Given the description of an element on the screen output the (x, y) to click on. 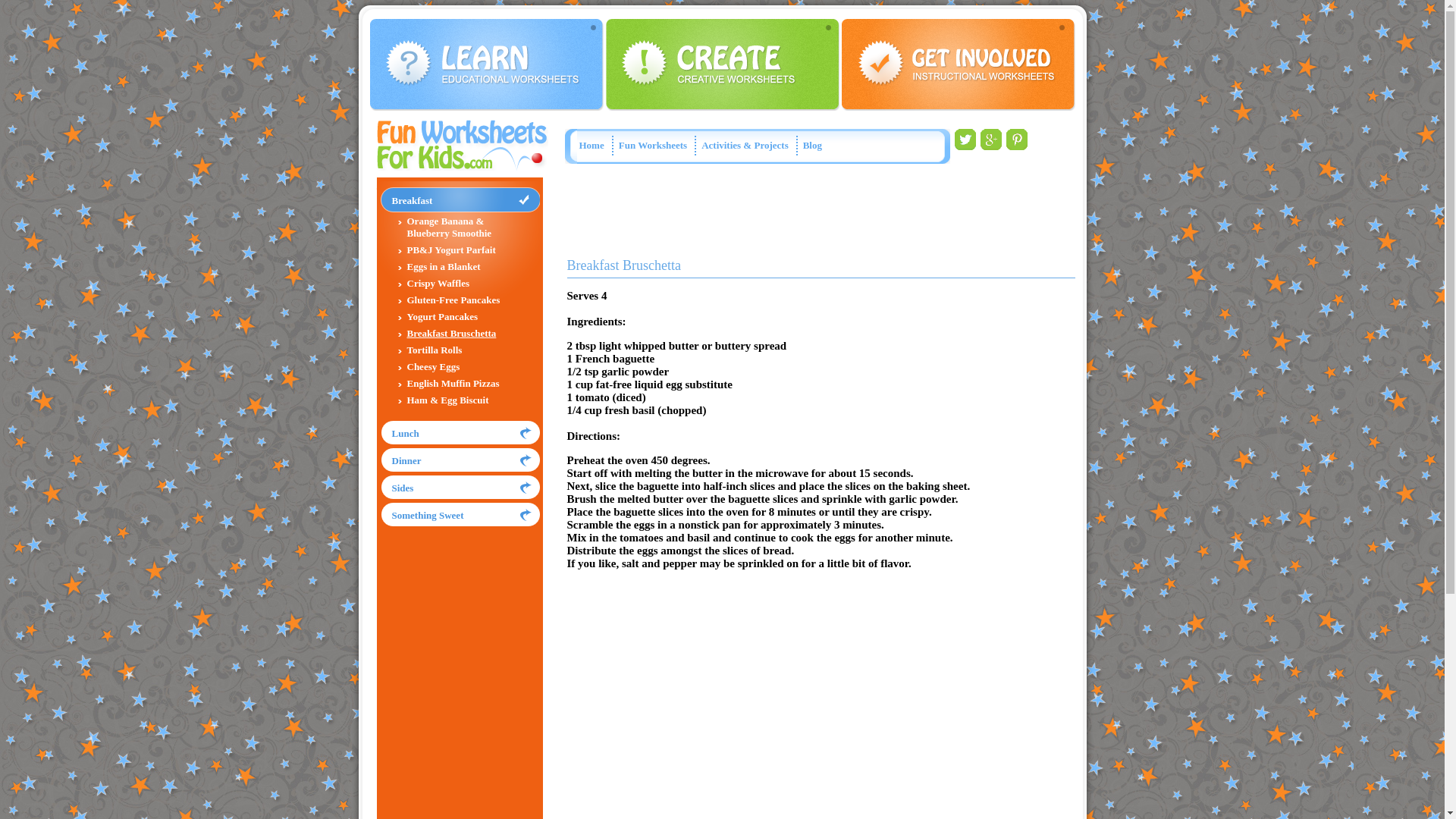
Eggs in a Blanket (443, 266)
Crispy Waffles (437, 283)
Home (591, 144)
Advertisement (843, 211)
Kids Fun Worksheets (652, 144)
Gluten-Free Pancakes (452, 299)
Google Plus (989, 147)
Fun Worksheets and Ideas for Kids (591, 144)
Dinner (405, 460)
Something Sweet (427, 514)
